Given the description of an element on the screen output the (x, y) to click on. 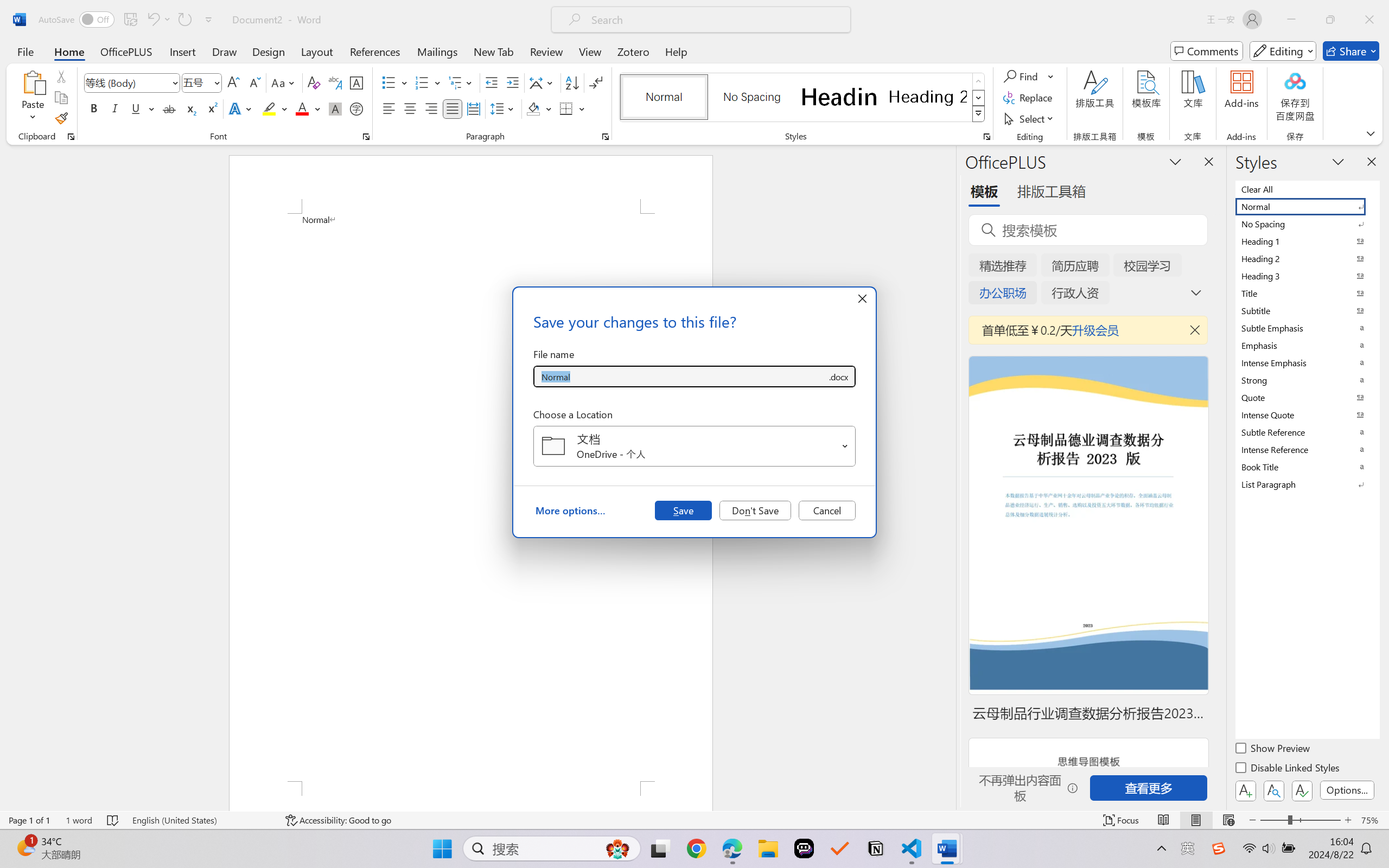
File name (680, 376)
Italic (115, 108)
Distributed (473, 108)
List Paragraph (1306, 484)
AutomationID: DynamicSearchBoxGleamImage (617, 848)
Select (1030, 118)
Open (844, 446)
Styles (978, 113)
Notion (875, 848)
Help (675, 51)
Review (546, 51)
